Given the description of an element on the screen output the (x, y) to click on. 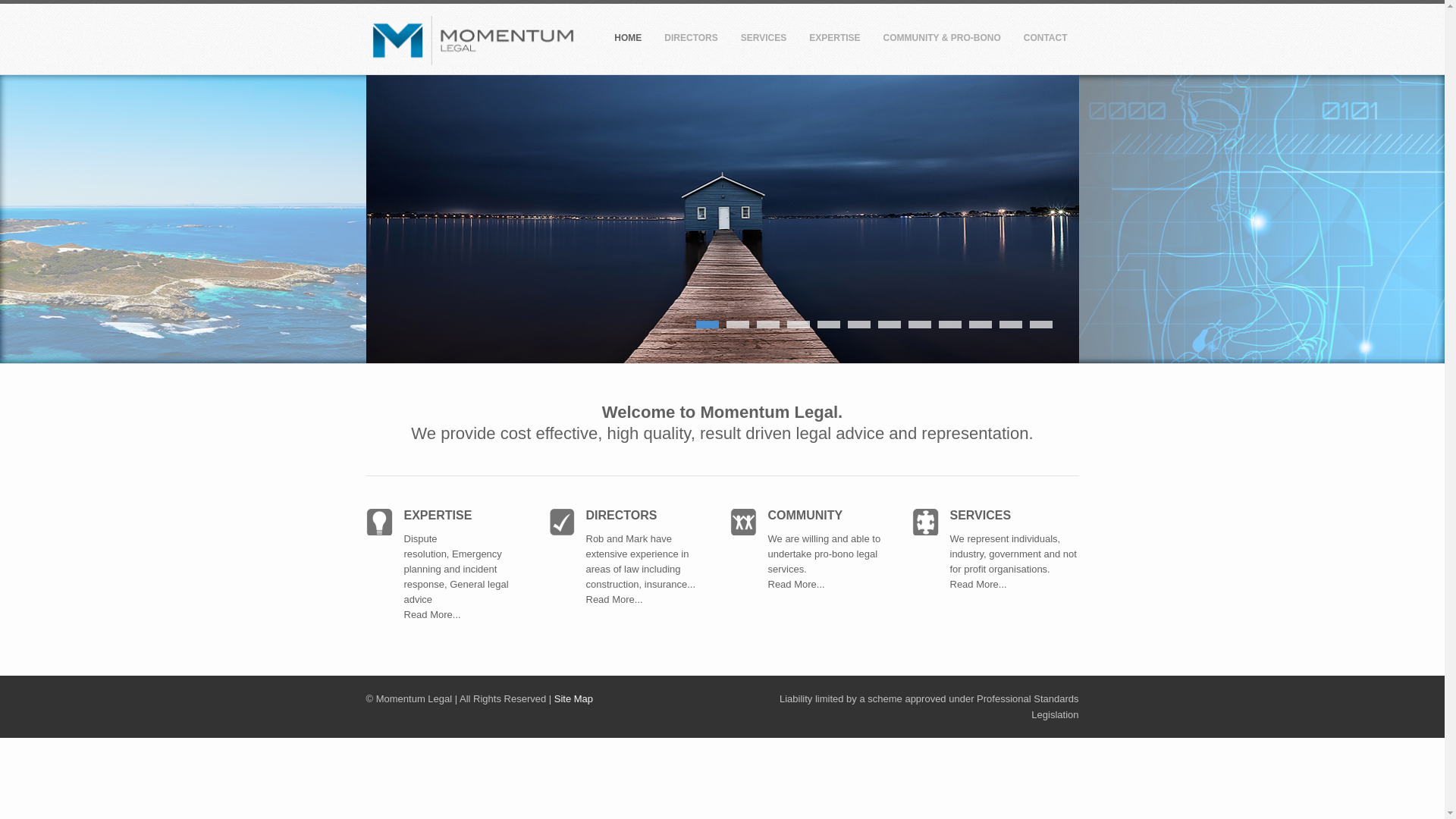
5 Element type: text (828, 324)
4 Element type: text (798, 324)
Read More... Element type: text (613, 599)
6 Element type: text (858, 324)
9 Element type: text (949, 324)
Read More... Element type: text (795, 591)
10 Element type: text (980, 324)
CONTACT Element type: text (1045, 40)
7 Element type: text (889, 324)
2 Element type: text (737, 324)
Site Map Element type: text (573, 698)
DIRECTORS Element type: text (690, 40)
12 Element type: text (1040, 324)
EXPERTISE Element type: text (834, 40)
1 Element type: text (707, 324)
COMMUNITY & PRO-BONO Element type: text (942, 40)
8 Element type: text (919, 324)
Read More... Element type: text (431, 621)
3 Element type: text (767, 324)
11 Element type: text (1010, 324)
Read More... Element type: text (999, 591)
HOME Element type: text (627, 40)
SERVICES Element type: text (763, 40)
